Given the description of an element on the screen output the (x, y) to click on. 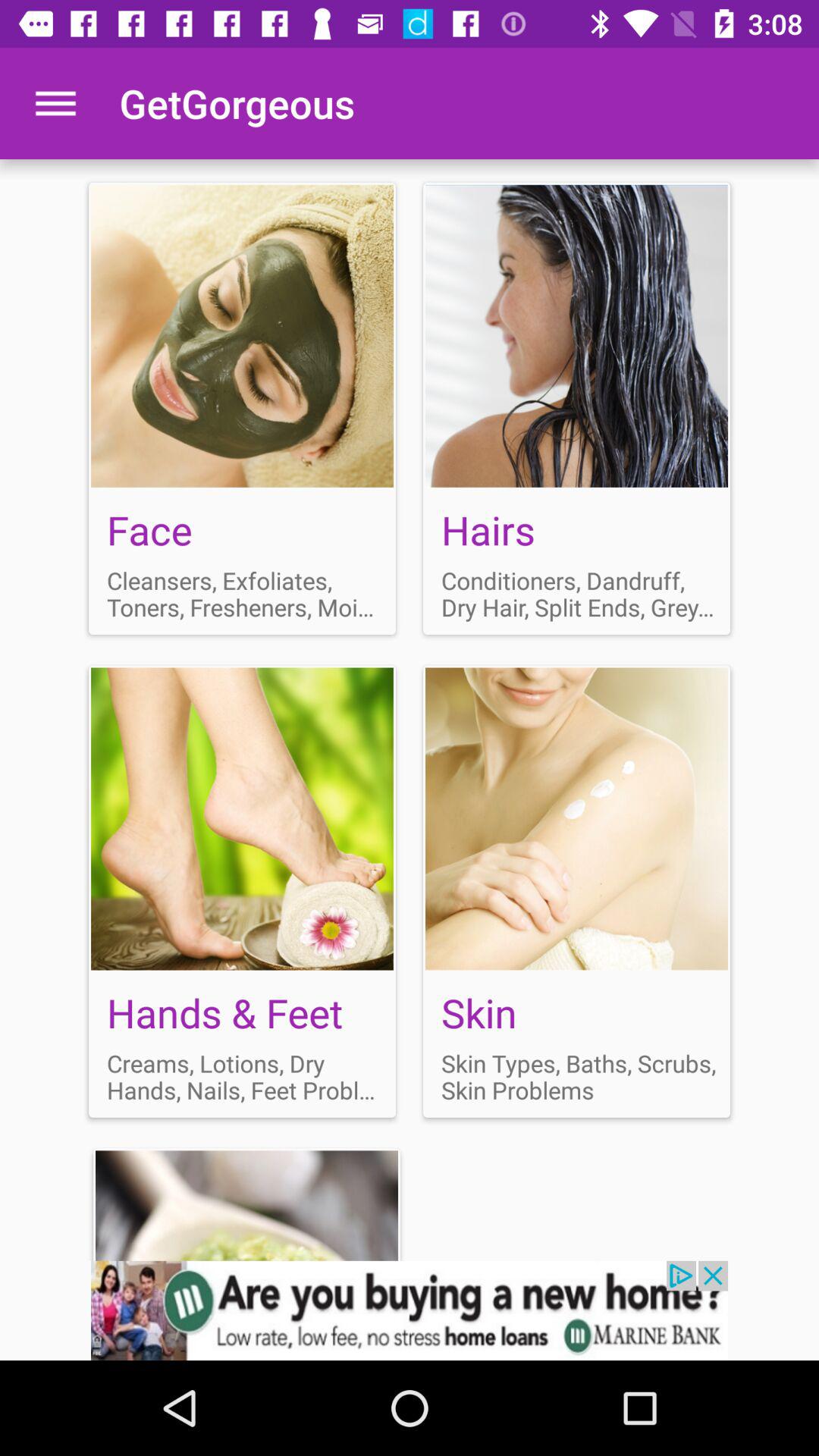
sub article (242, 891)
